Given the description of an element on the screen output the (x, y) to click on. 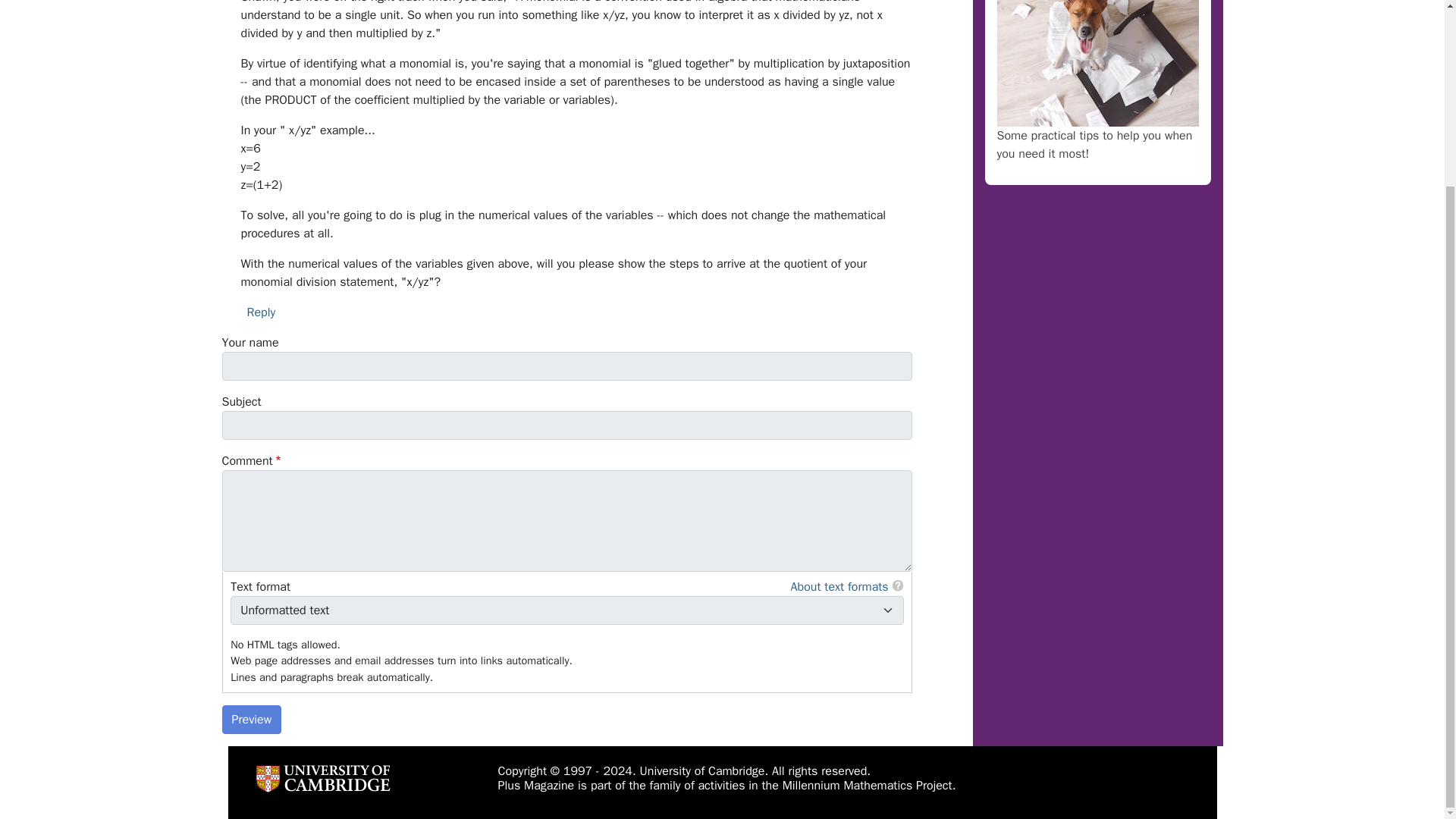
About text formats (839, 586)
Preview (251, 719)
Preview (251, 719)
Reply (261, 312)
